Given the description of an element on the screen output the (x, y) to click on. 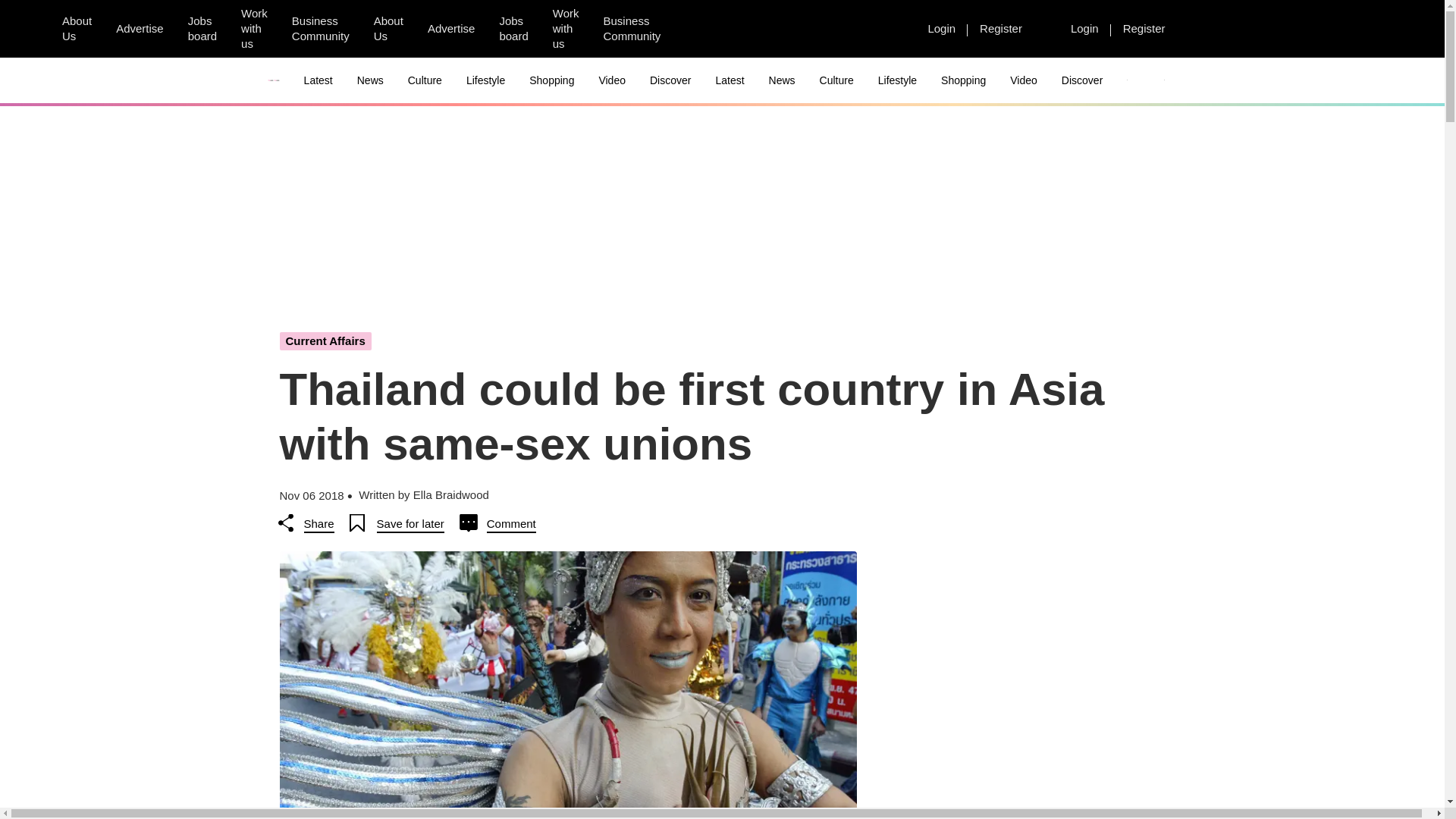
Work with us (565, 28)
Register (1000, 28)
Work with us (253, 28)
Advertise (450, 28)
Business Community (320, 28)
Latest (318, 79)
About Us (76, 28)
Follow PinkNews on LinkedIn (775, 28)
Login (1084, 28)
Business Community (631, 28)
Jobs board (202, 28)
Follow PinkNews on LinkedIn (885, 28)
About Us (387, 28)
News (370, 79)
Register (1143, 28)
